Given the description of an element on the screen output the (x, y) to click on. 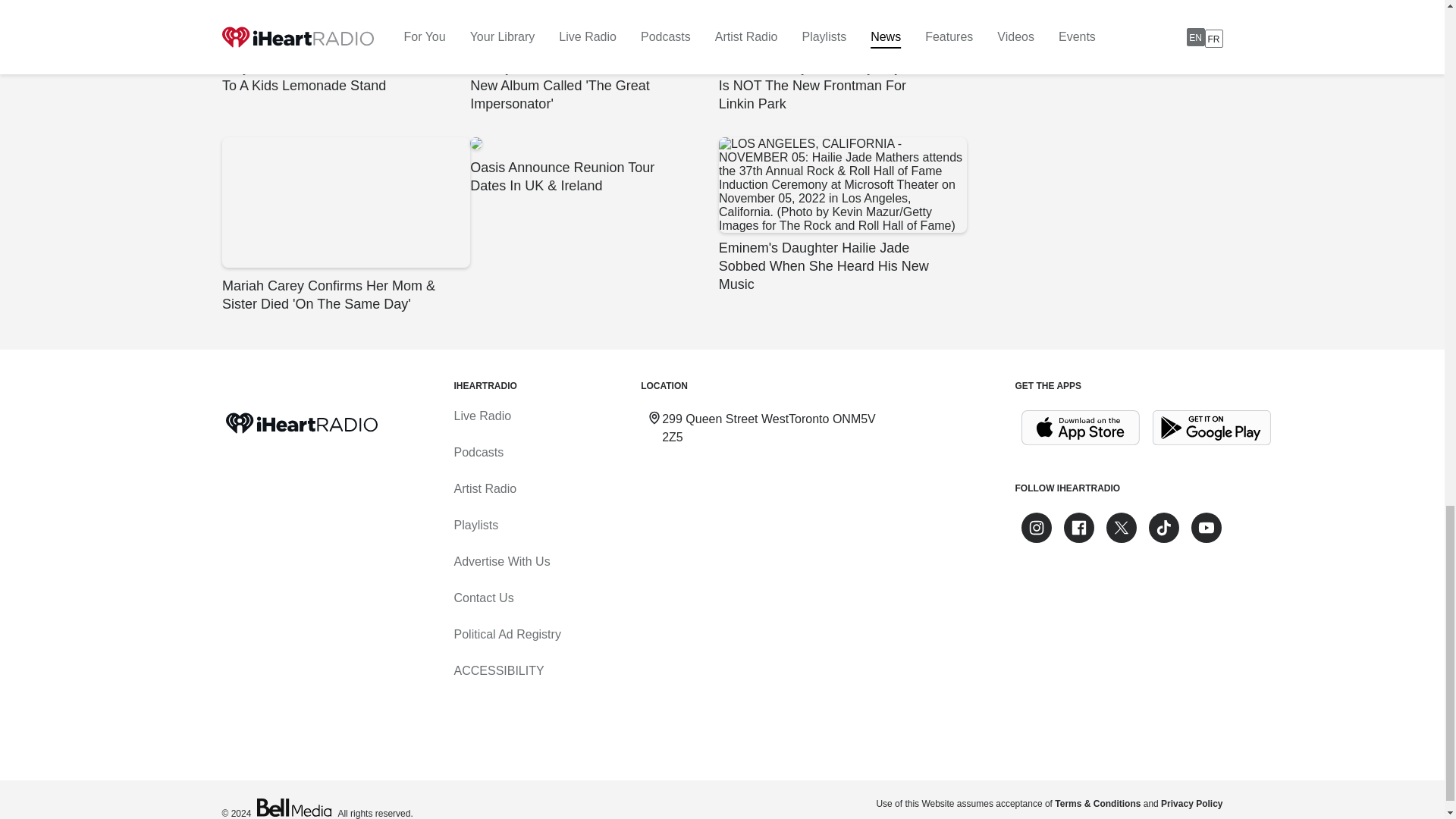
Jelly Roll Made A Sizeable Donation To A Kids Lemonade Stand (344, 47)
Contact Us (482, 597)
Live Radio (481, 415)
Advertise With Us (501, 561)
Accessibility (497, 671)
Privacy Policy (1191, 803)
Download on the App Store (1080, 427)
